Given the description of an element on the screen output the (x, y) to click on. 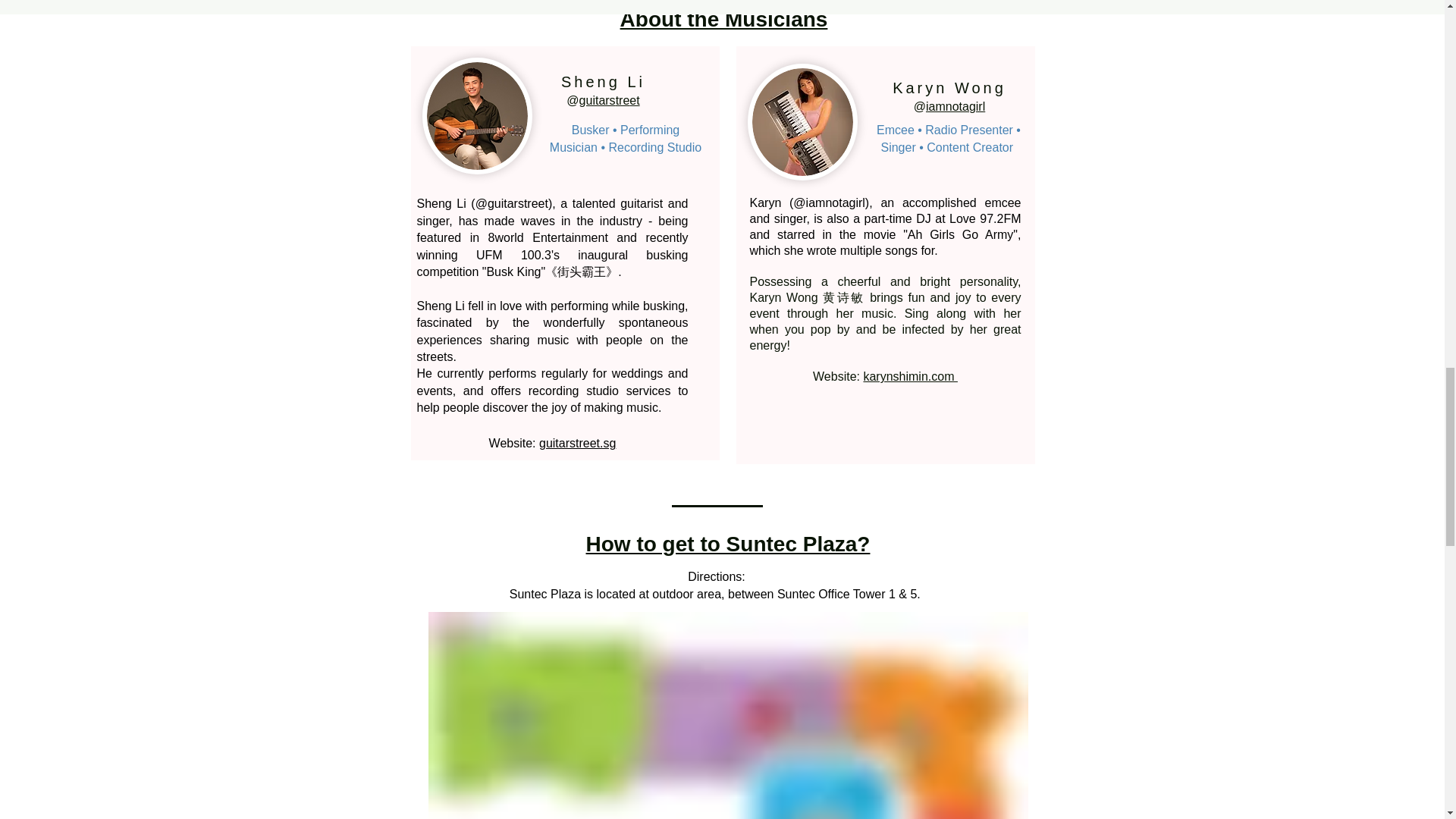
guitarstreet.sg (576, 442)
guitars (597, 100)
karynshimin.com  (909, 376)
iamnotagirl (955, 106)
tre (622, 100)
